Given the description of an element on the screen output the (x, y) to click on. 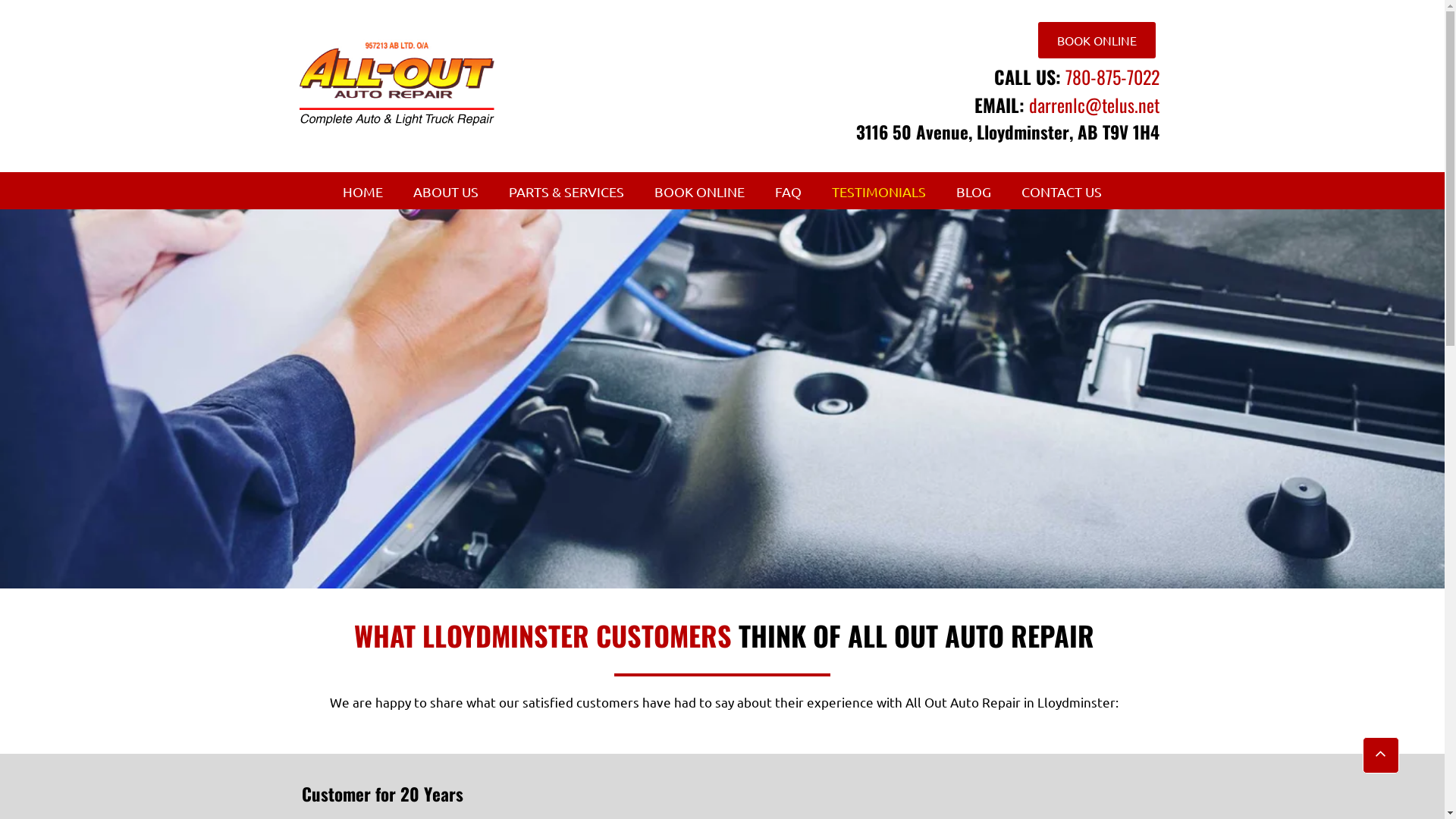
PARTS & SERVICES Element type: text (566, 191)
darrenlc@telus.net Element type: text (1093, 104)
FAQ Element type: text (787, 191)
BLOG Element type: text (973, 191)
780-875-7022 Element type: text (1111, 80)
BOOK ONLINE Element type: text (1095, 39)
BOOK ONLINE Element type: text (699, 191)
TESTIMONIALS Element type: text (878, 191)
CONTACT US Element type: text (1061, 191)
ABOUT US Element type: text (445, 191)
HOME Element type: text (362, 191)
